Given the description of an element on the screen output the (x, y) to click on. 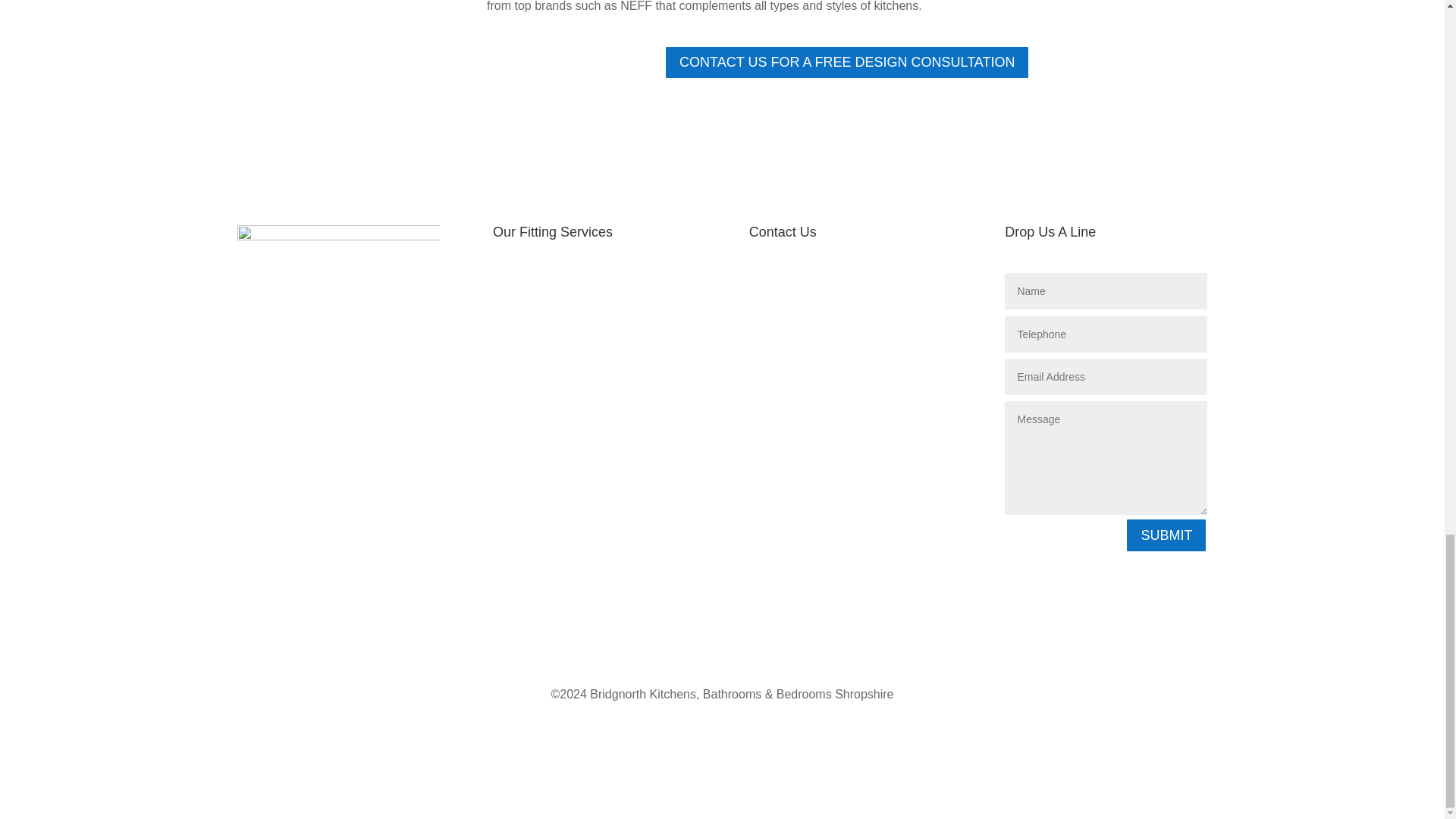
Bridgnorth-Kitchens,-Bathroom-Bedroom-Logo-3 (337, 236)
Follow on Facebook (761, 500)
Follow on Instagram (790, 500)
